Given the description of an element on the screen output the (x, y) to click on. 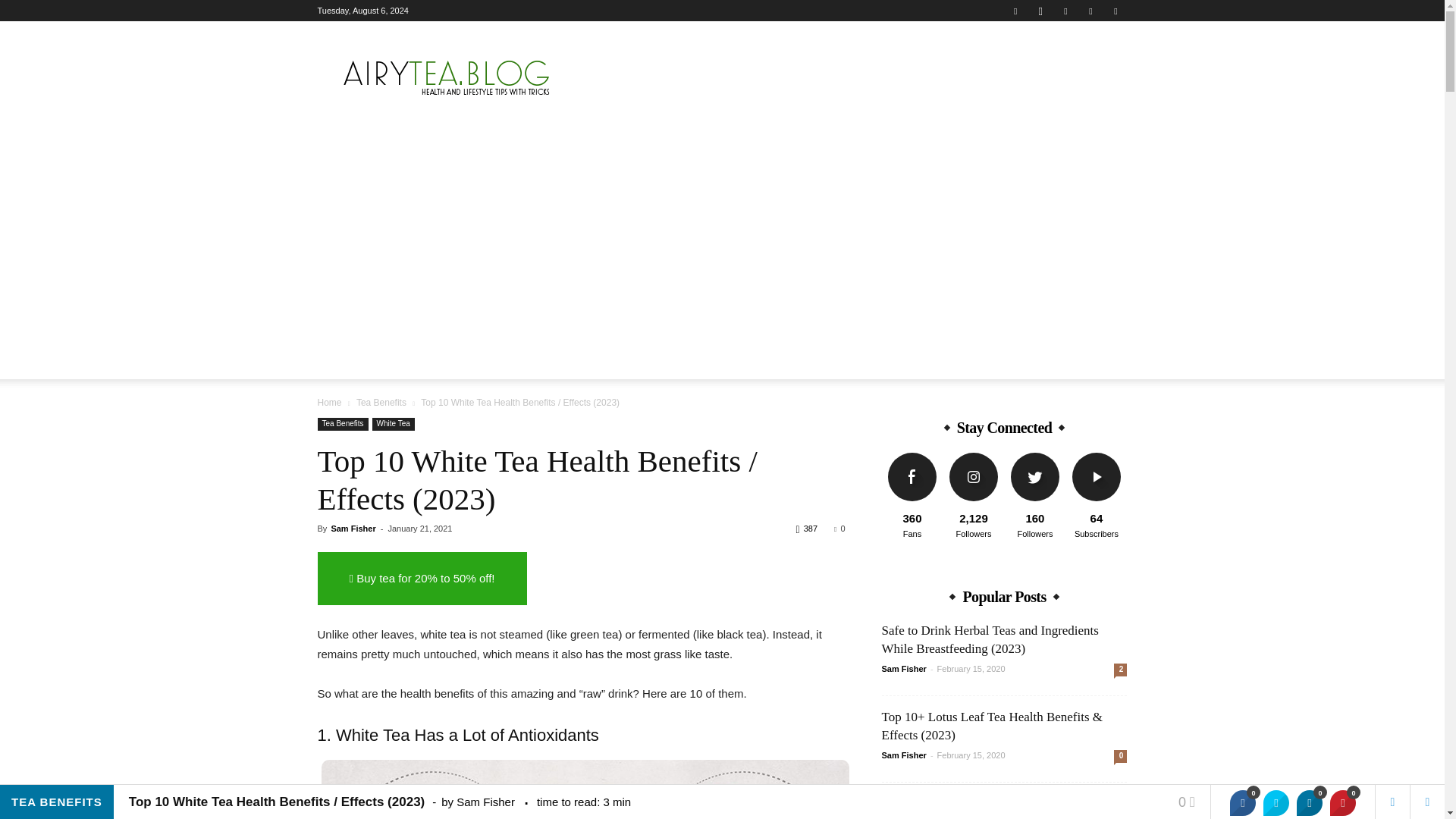
DISCLAIMER (956, 361)
INFUSERS (480, 361)
WHITE TEA (755, 361)
Search (1085, 421)
Youtube (1114, 10)
Facebook (1015, 10)
AiryTea Blog - Tea Hacks and Health Tips (445, 76)
OOLONG TEA (830, 361)
Instagram (1040, 10)
GREEN TEA (684, 361)
